Given the description of an element on the screen output the (x, y) to click on. 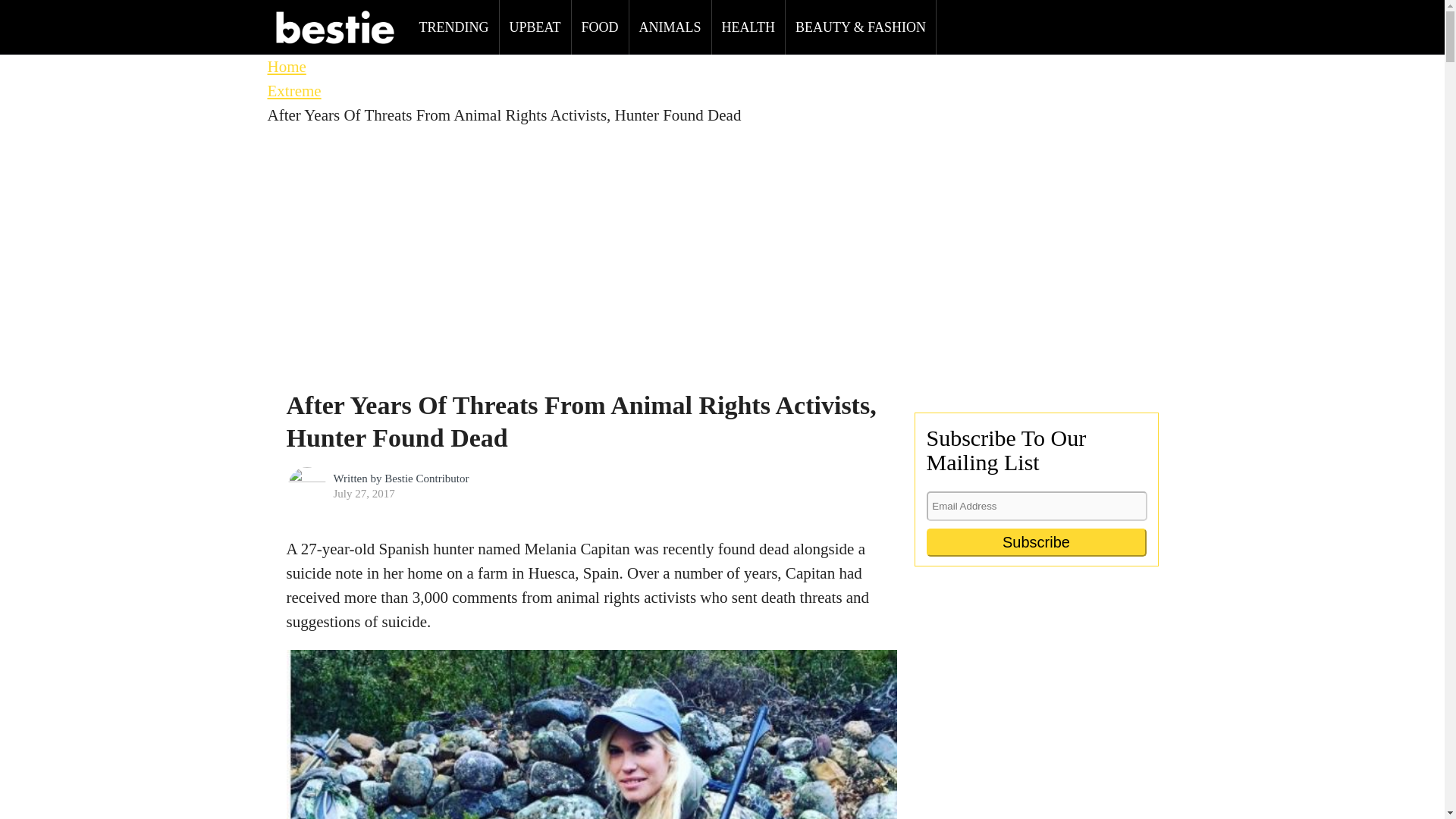
UPBEAT (534, 27)
Extreme (293, 90)
FOOD (600, 27)
HEALTH (747, 27)
Subscribe (1036, 542)
Home (285, 66)
ANIMALS (669, 27)
TRENDING (454, 27)
